Given the description of an element on the screen output the (x, y) to click on. 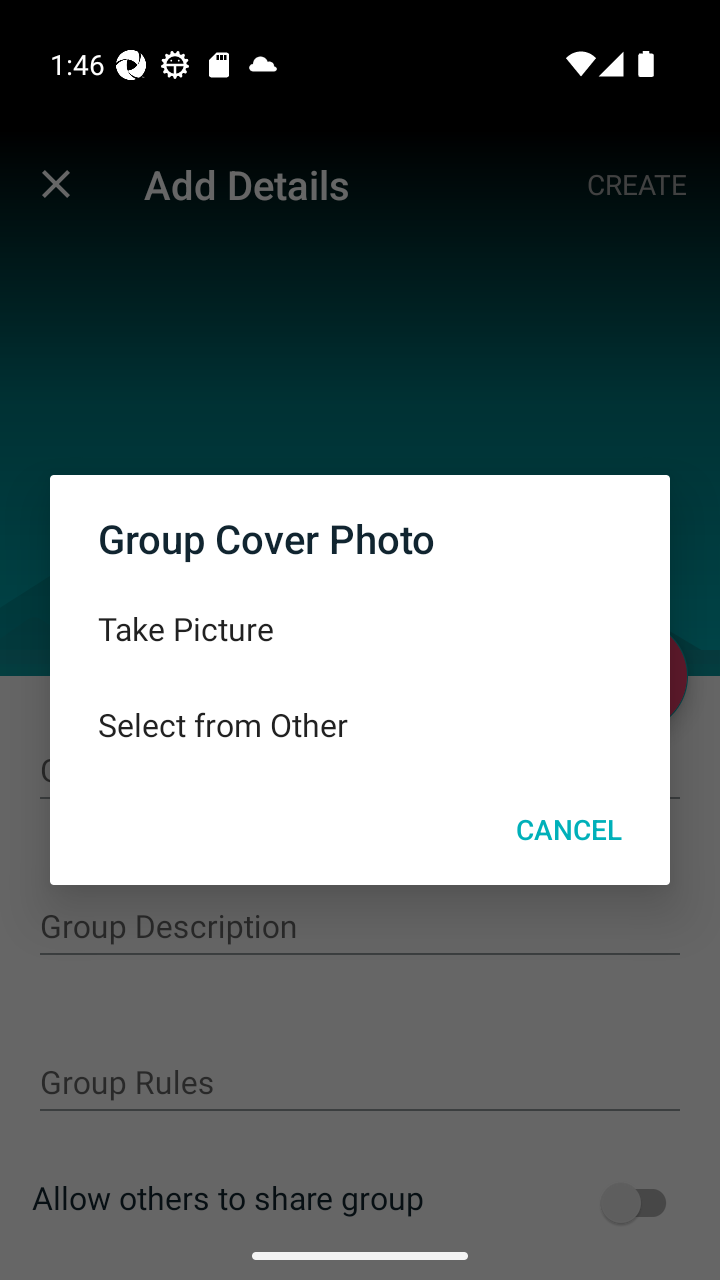
Take Picture (359, 629)
Select from Other (359, 725)
CANCEL (568, 828)
